Given the description of an element on the screen output the (x, y) to click on. 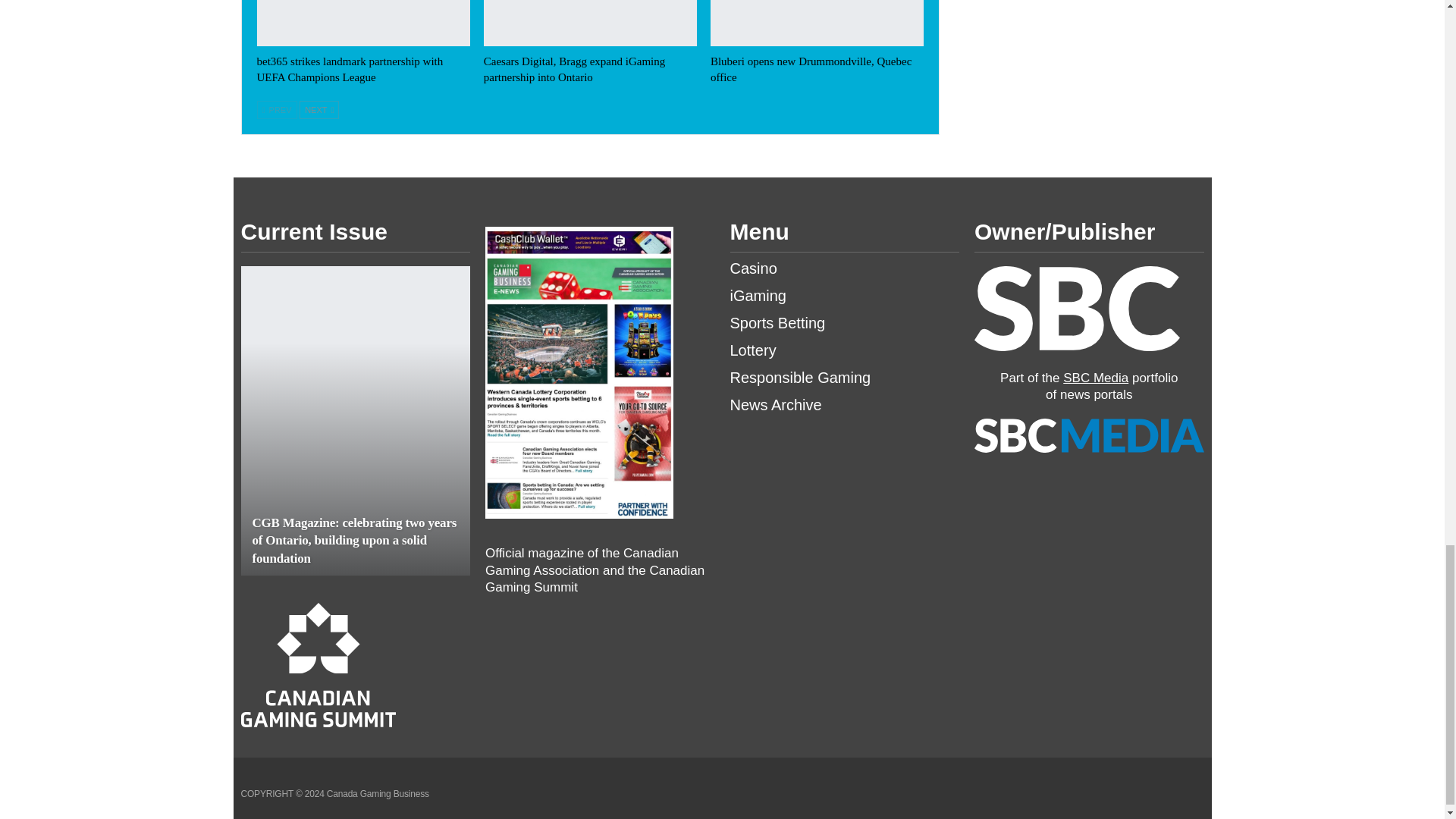
Bluberi opens new Drummondville, Quebec office (816, 22)
Next (319, 109)
Bluberi opens new Drummondville, Quebec office (810, 69)
Previous (276, 109)
